Given the description of an element on the screen output the (x, y) to click on. 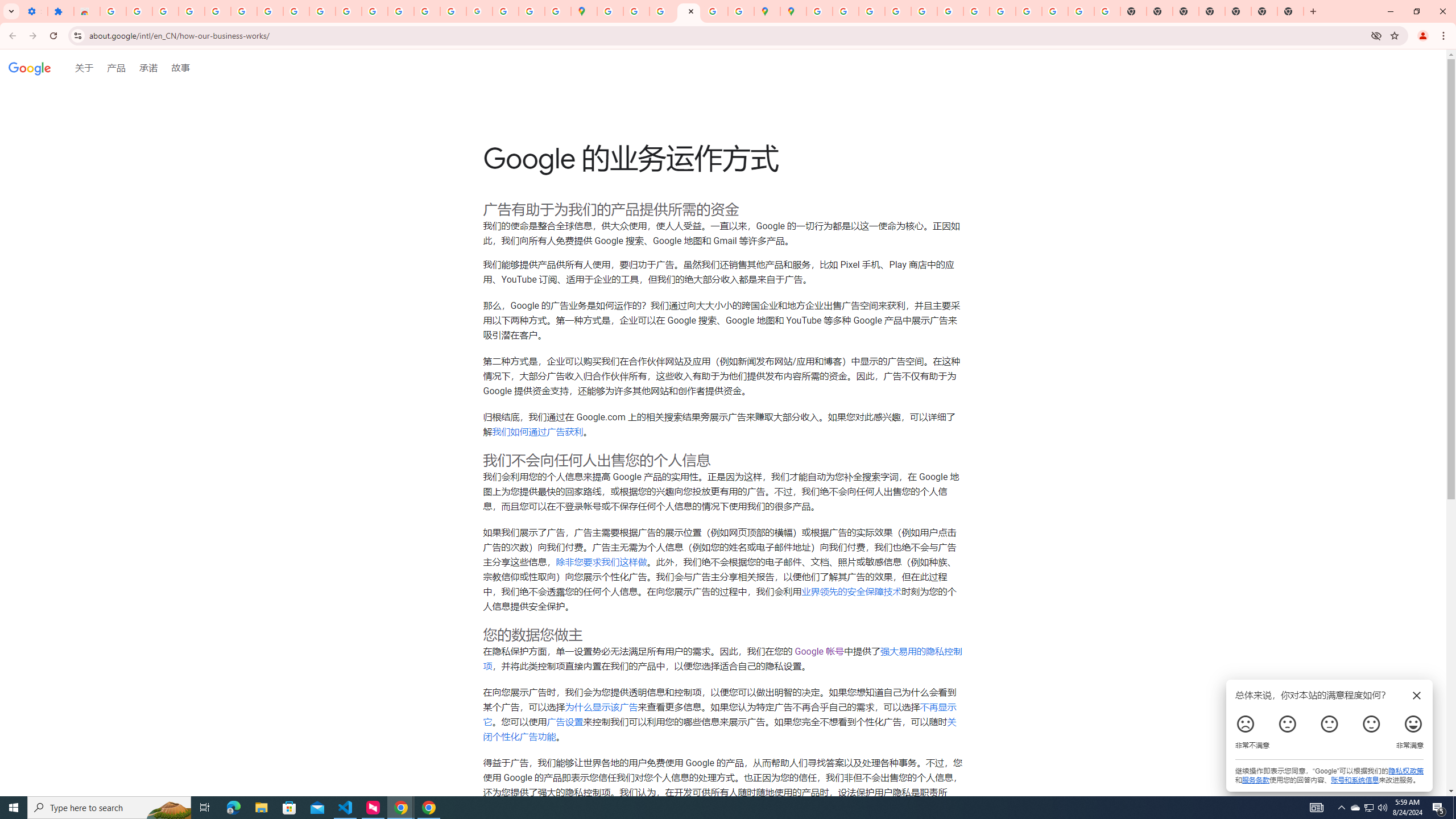
Safety in Our Products - Google Safety Center (740, 11)
Create your Google Account (663, 11)
YouTube (976, 11)
Privacy Help Center - Policies Help (871, 11)
